Given the description of an element on the screen output the (x, y) to click on. 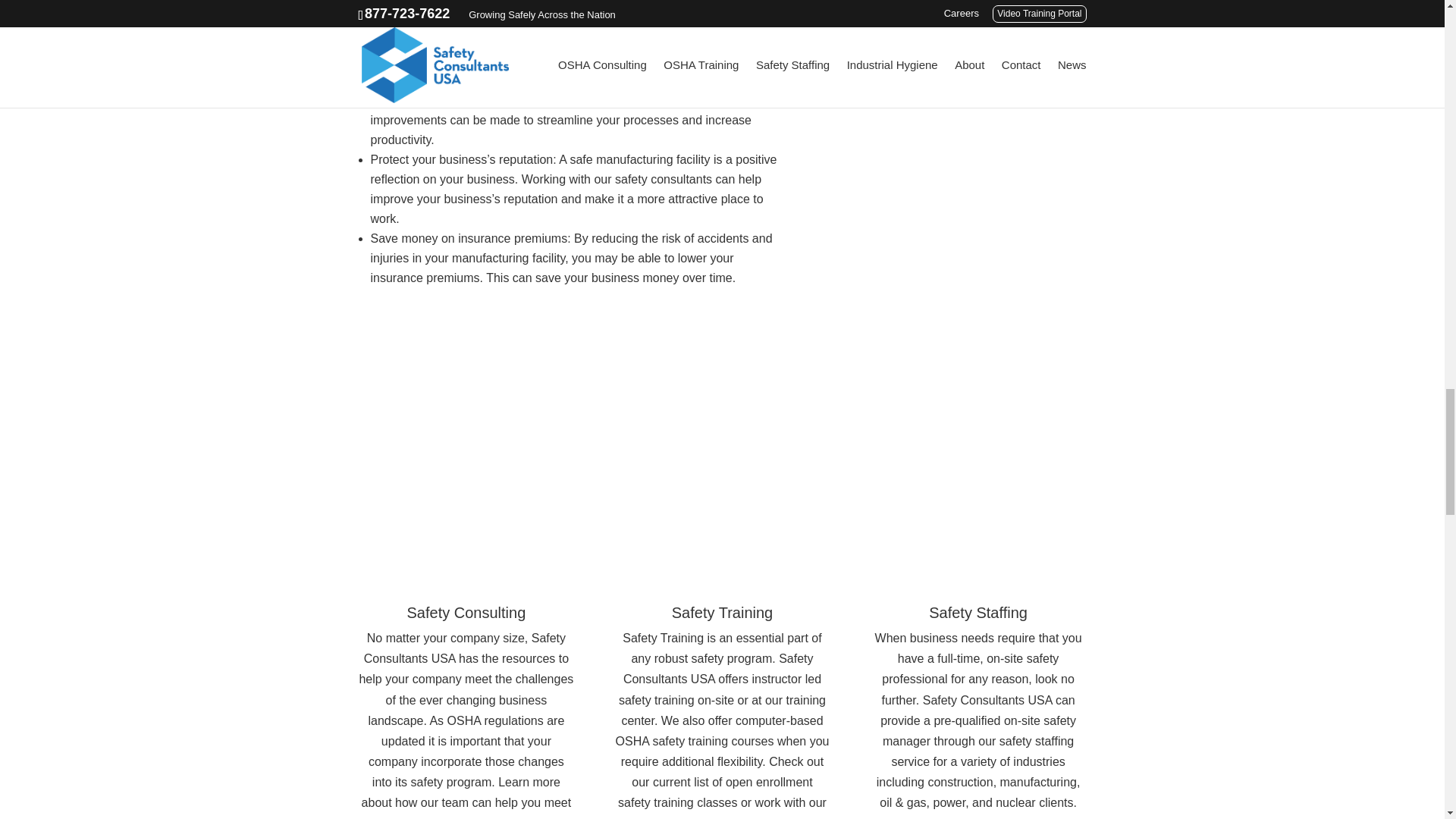
Safety Training (722, 612)
Safety Staffing (977, 612)
Safety Consulting (466, 612)
